Given the description of an element on the screen output the (x, y) to click on. 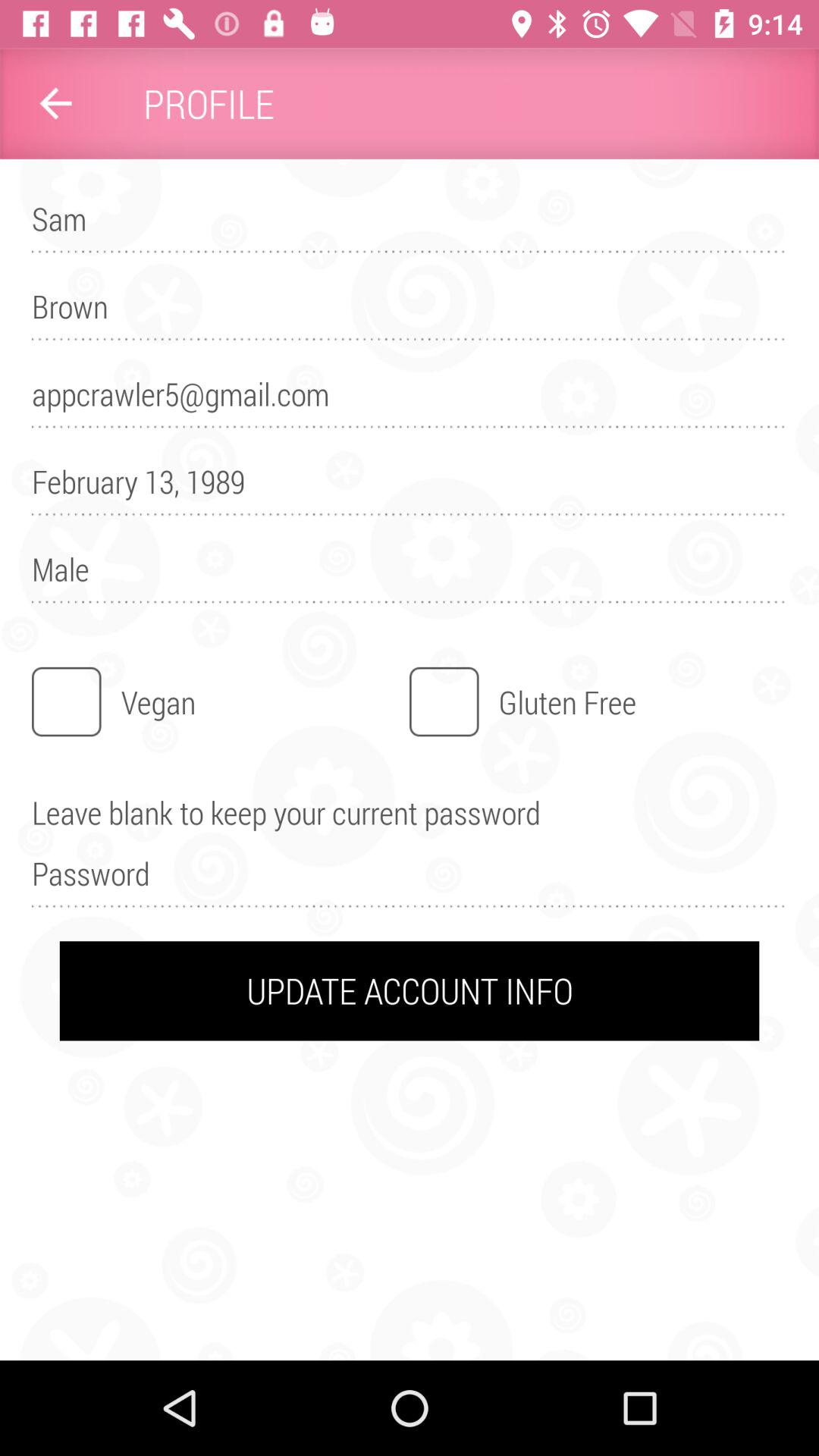
scroll to the sam item (409, 225)
